Given the description of an element on the screen output the (x, y) to click on. 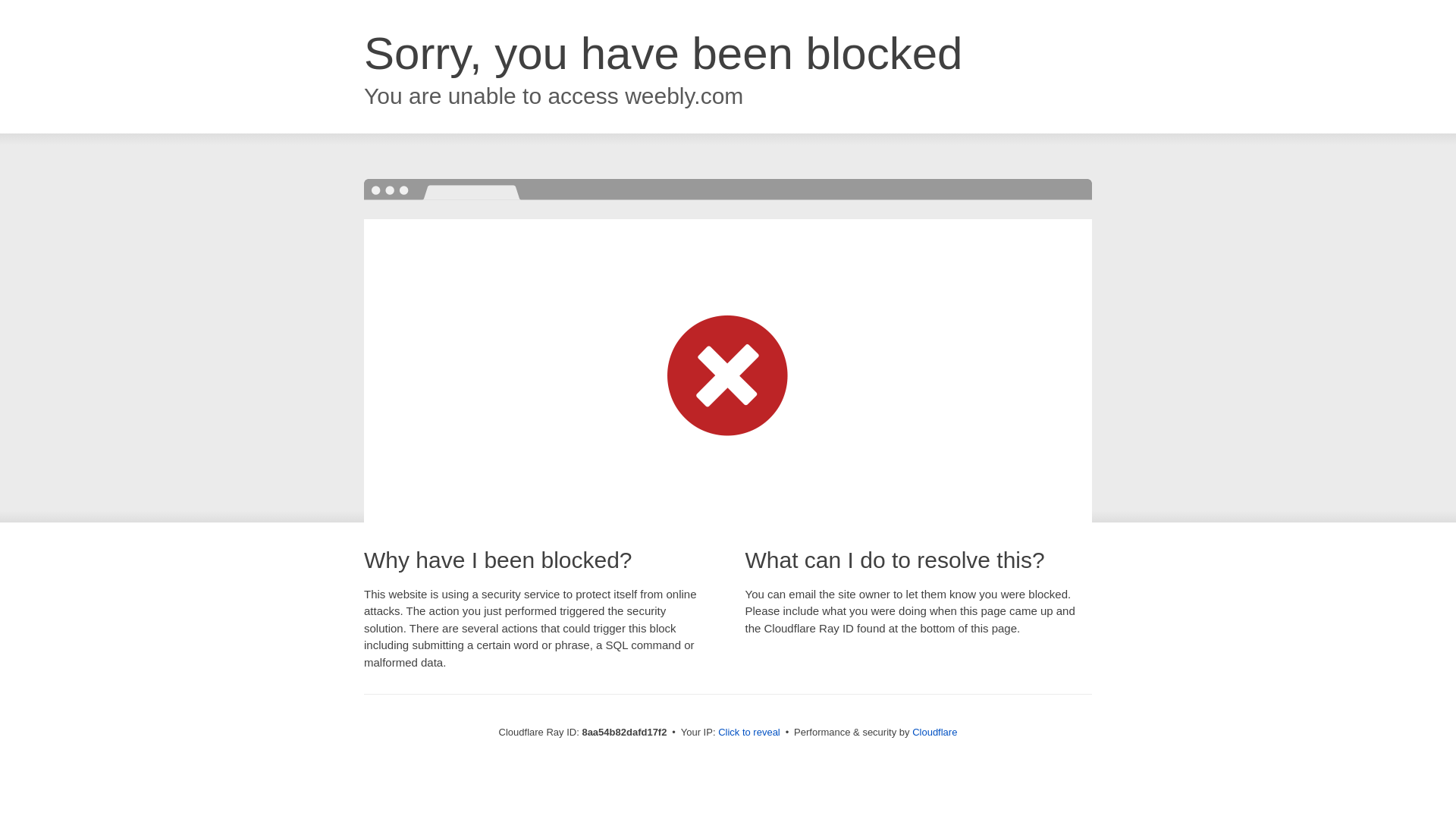
Click to reveal (748, 732)
Cloudflare (934, 731)
